Given the description of an element on the screen output the (x, y) to click on. 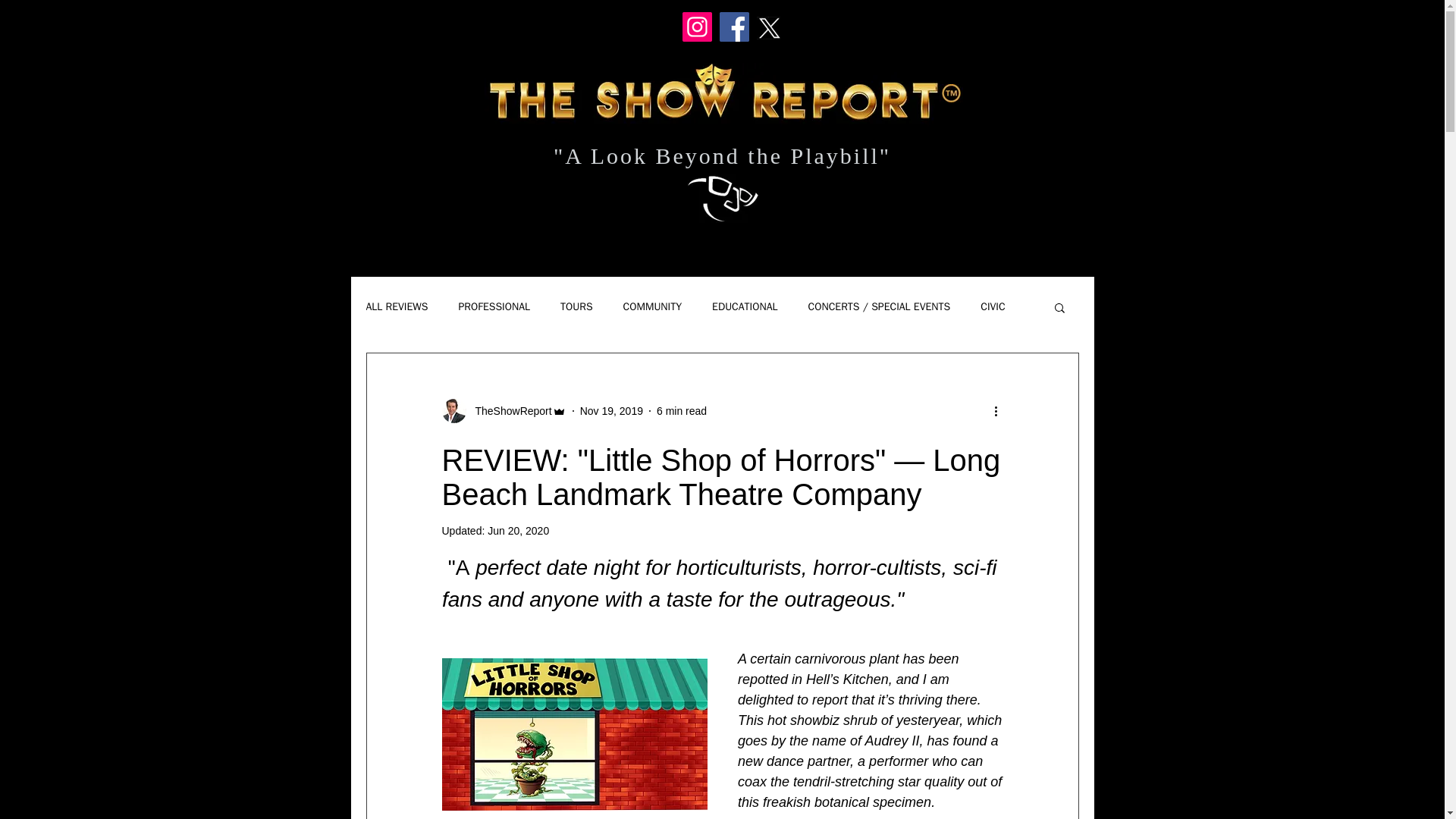
Nov 19, 2019 (611, 410)
6 min read (681, 410)
PROFESSIONAL (493, 306)
COMMUNITY (652, 306)
Jun 20, 2020 (517, 530)
TOURS (576, 306)
ALL REVIEWS (396, 306)
TheShowReport (503, 410)
TheShowReport (508, 411)
CIVIC (991, 306)
EDUCATIONAL (744, 306)
